Given the description of an element on the screen output the (x, y) to click on. 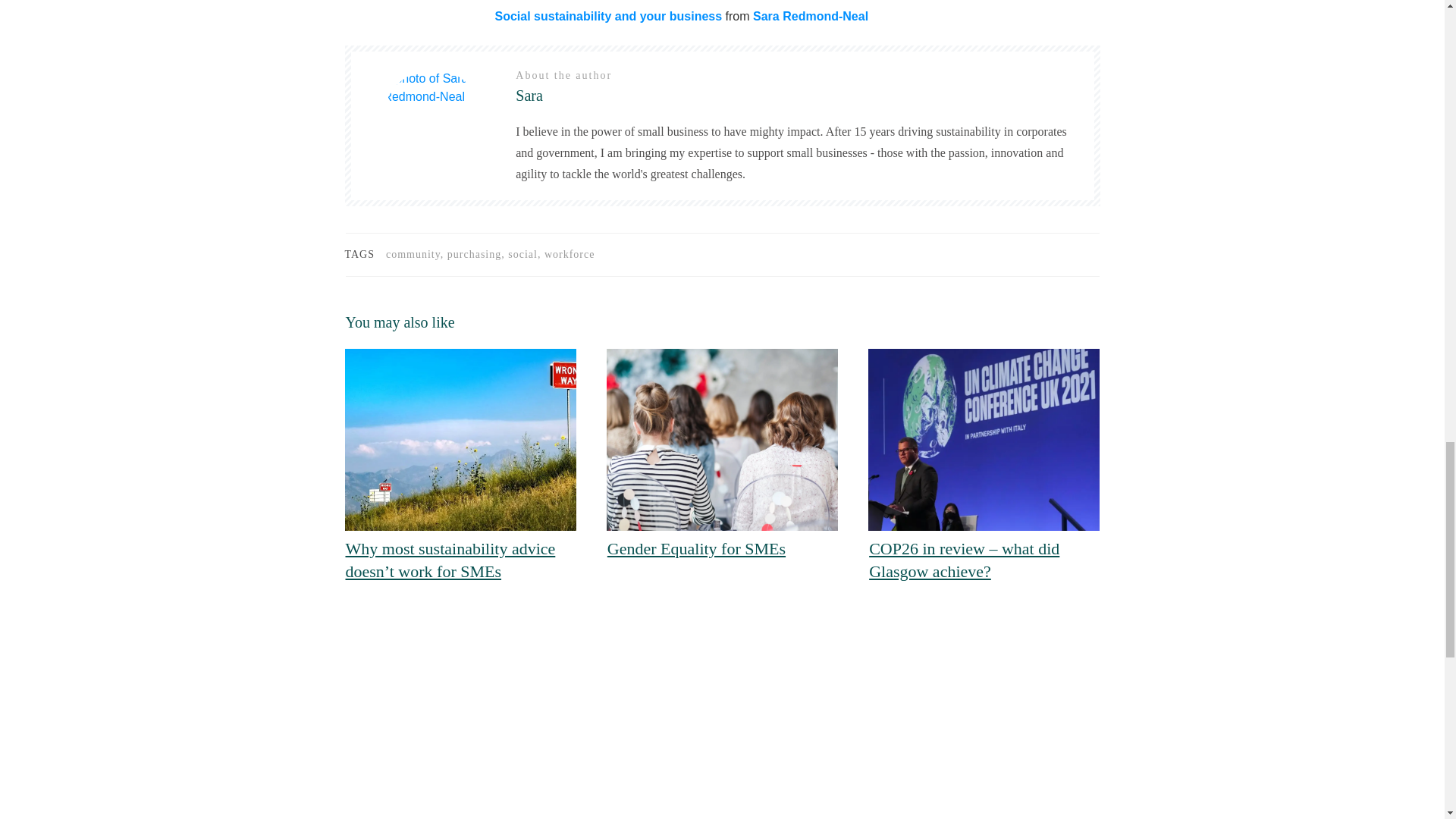
Sara Redmond-Neal (809, 15)
Social sustainability and your business (608, 15)
Gender Equality for SMEs (696, 547)
Social sustainability and your business (608, 15)
